Given the description of an element on the screen output the (x, y) to click on. 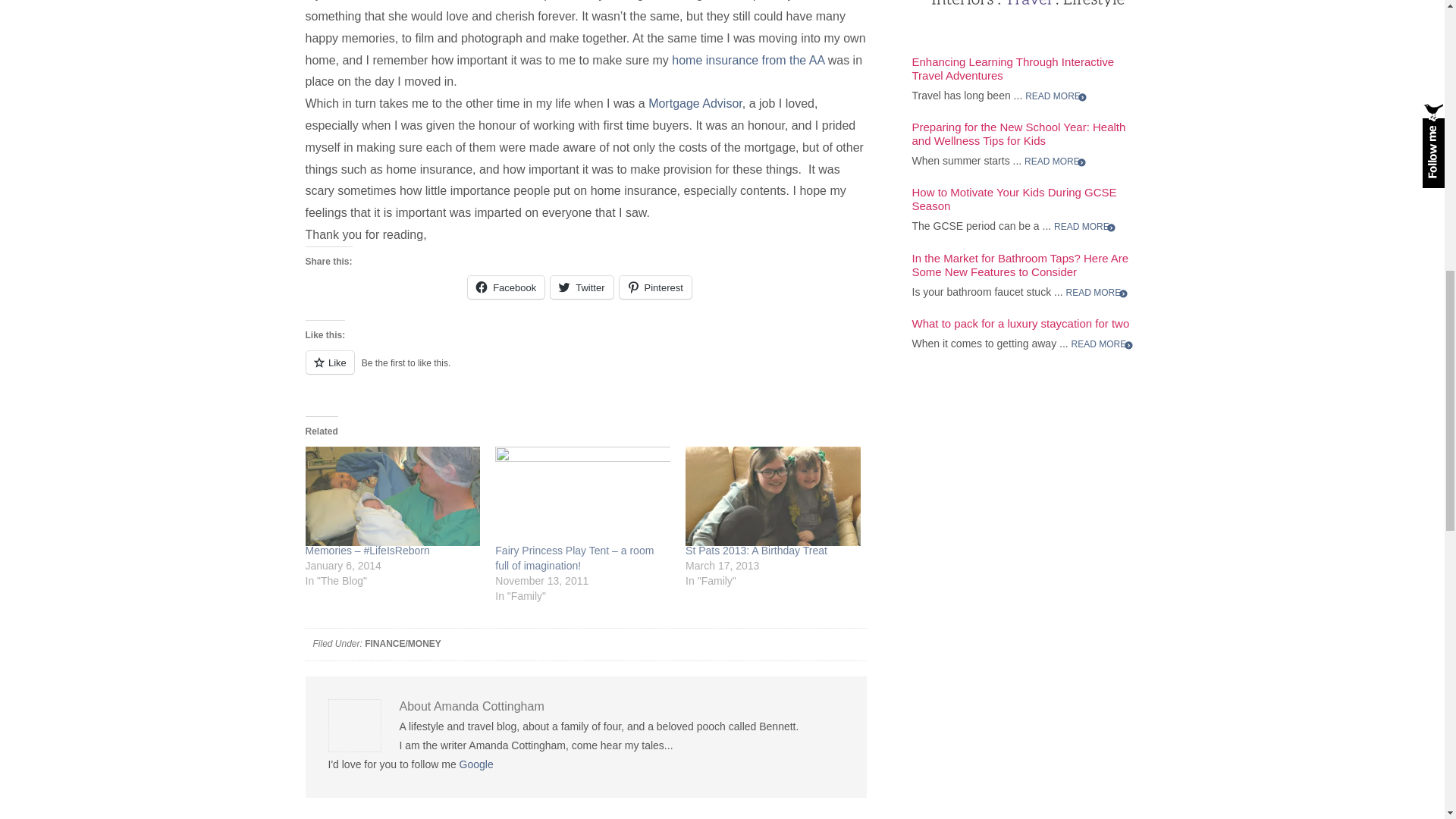
St Pats 2013: A Birthday Treat (756, 550)
Pinterest (655, 287)
Click to share on Facebook (505, 287)
Facebook (505, 287)
Mortgage Advisor (694, 103)
Twitter (581, 287)
Click to share on Twitter (581, 287)
St Pats 2013: A Birthday Treat (772, 496)
home insurance from the AA (747, 60)
Like or Reblog (585, 371)
